Given the description of an element on the screen output the (x, y) to click on. 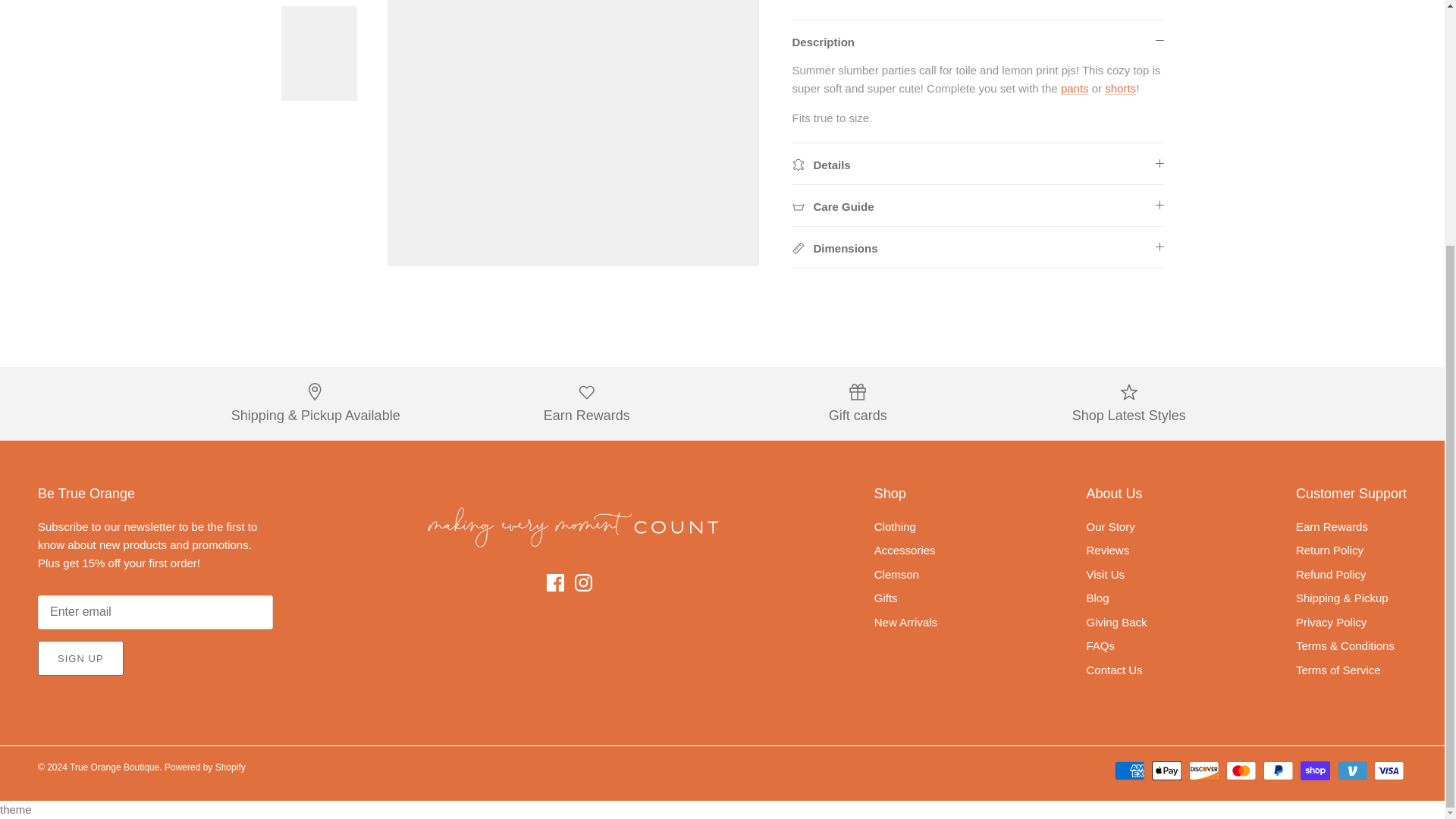
Facebook (555, 582)
American Express (1129, 770)
PayPal (1277, 770)
Discover (1203, 770)
Lemon Drop PJ Pants (1075, 88)
Mastercard (1240, 770)
Lemon Drop PJ Shorts (1120, 88)
Instagram (583, 582)
Apple Pay (1166, 770)
